Given the description of an element on the screen output the (x, y) to click on. 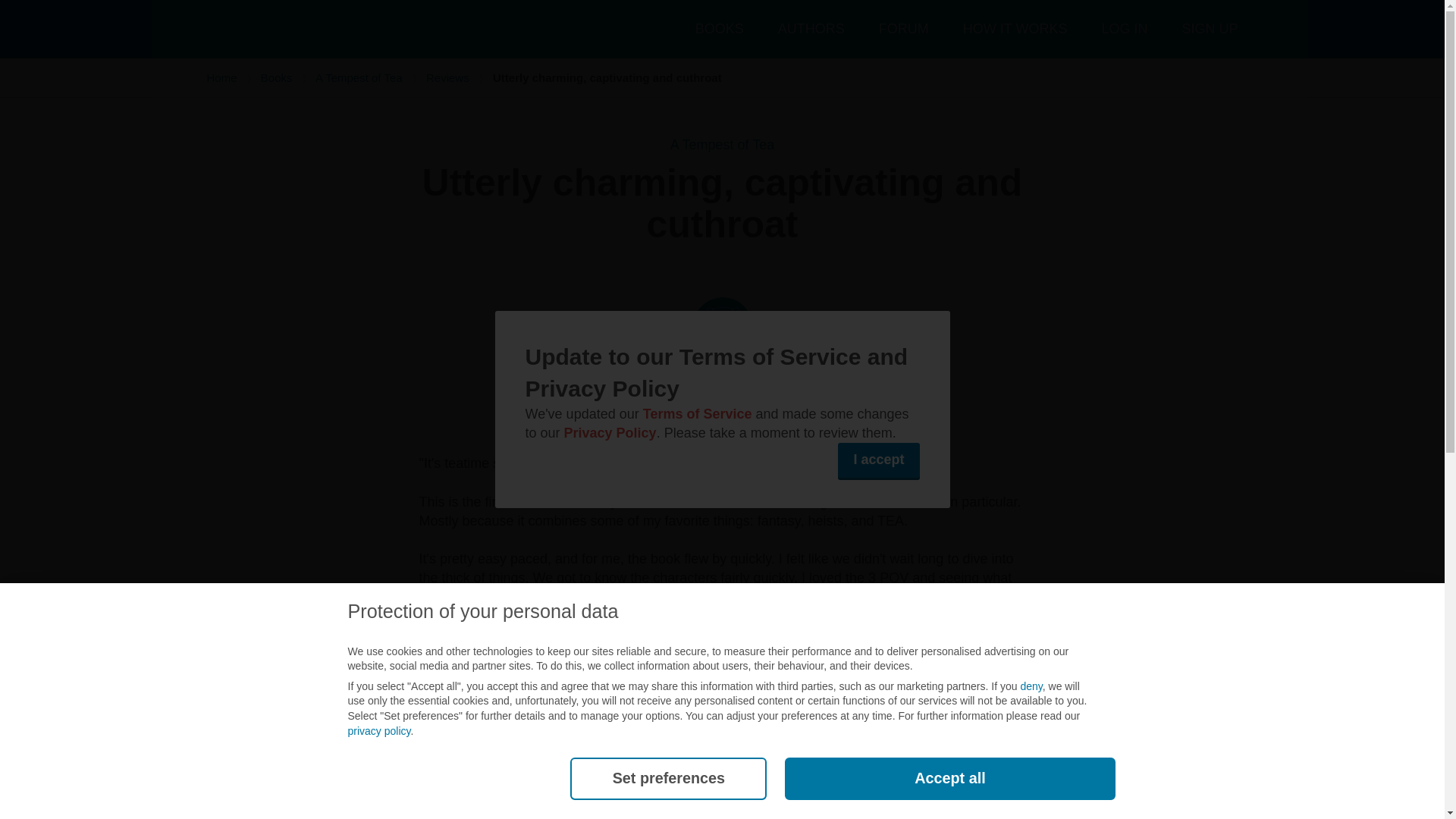
star unfilled (781, 264)
FORUM (903, 28)
Terms of Service (697, 413)
deny (1031, 686)
A Tempest of Tea (721, 144)
filled star (720, 264)
Home (220, 77)
A Tempest of Tea (359, 77)
Books (276, 77)
privacy policy (378, 730)
Privacy Policy (610, 432)
BOOKS (719, 28)
LOG IN (1123, 28)
HOW IT WORKS (1014, 28)
BookishFirst logo (319, 28)
